Given the description of an element on the screen output the (x, y) to click on. 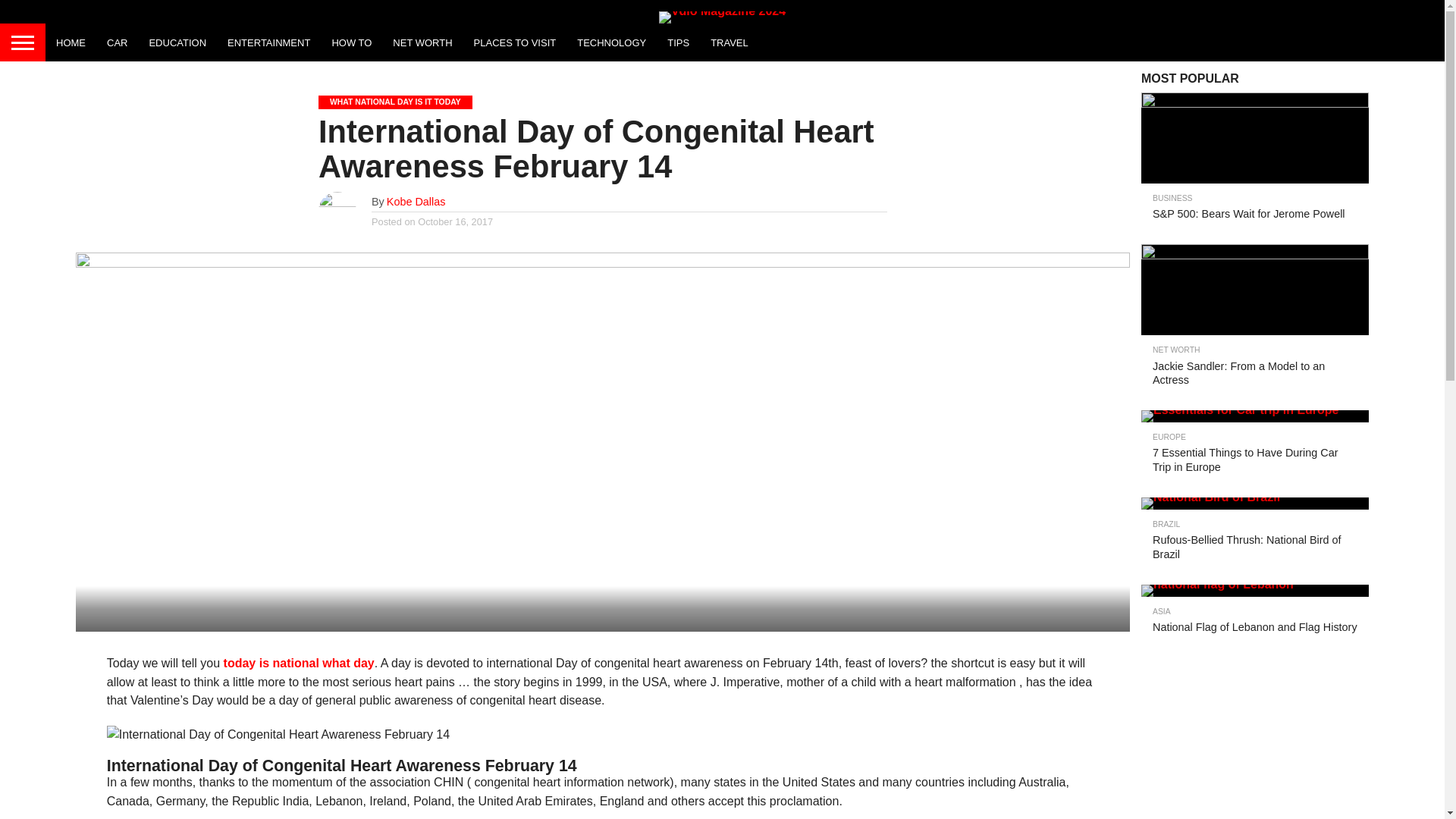
Posts by Kobe Dallas (416, 201)
ENTERTAINMENT (268, 42)
PLACES TO VISIT (515, 42)
TRAVEL (729, 42)
NET WORTH (422, 42)
CAR (117, 42)
HOME (70, 42)
International Day of Congenital Heart Awareness February 14 (277, 734)
EDUCATION (177, 42)
TECHNOLOGY (611, 42)
